Given the description of an element on the screen output the (x, y) to click on. 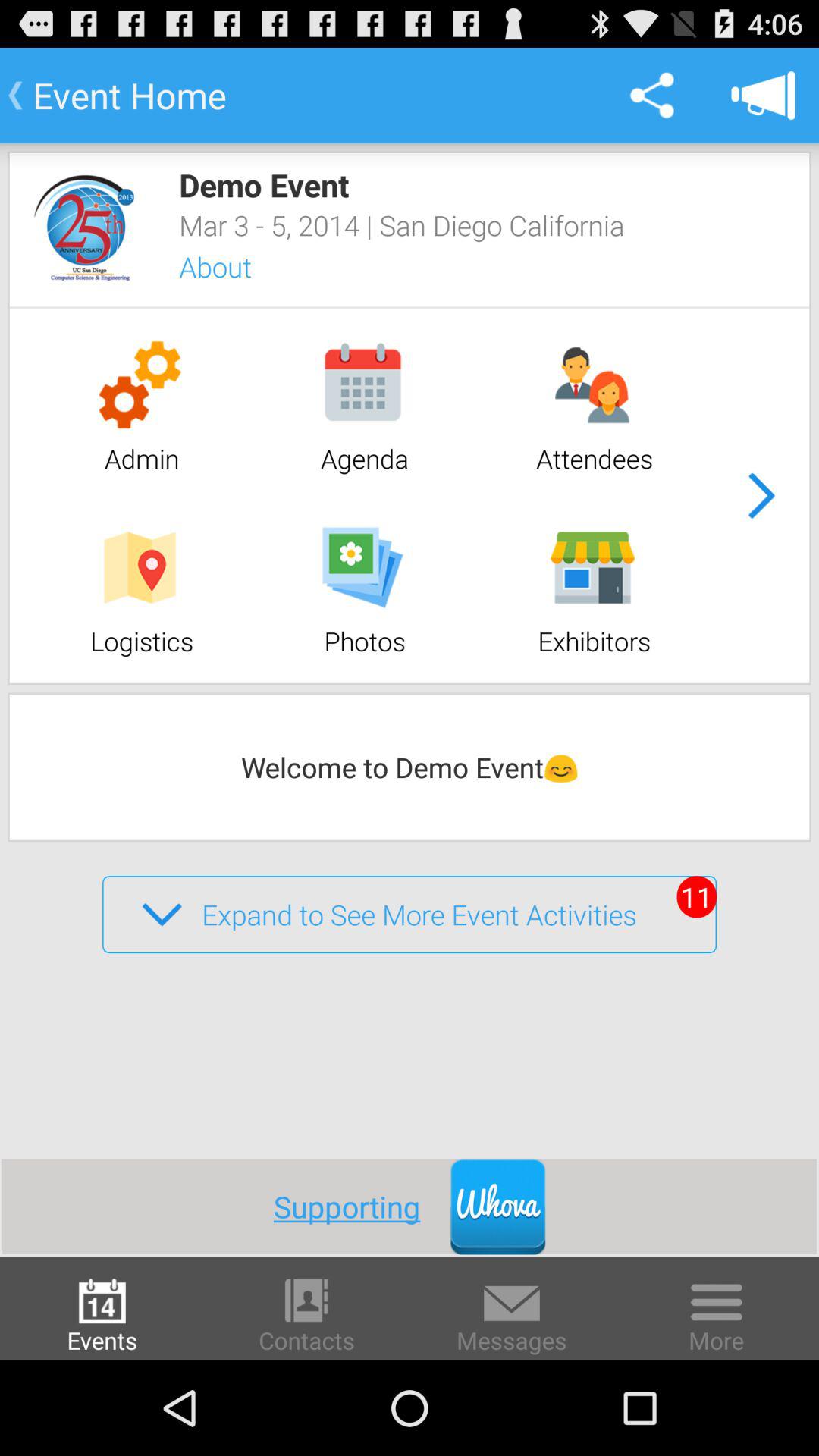
turn on the item to the right of event home (651, 95)
